Given the description of an element on the screen output the (x, y) to click on. 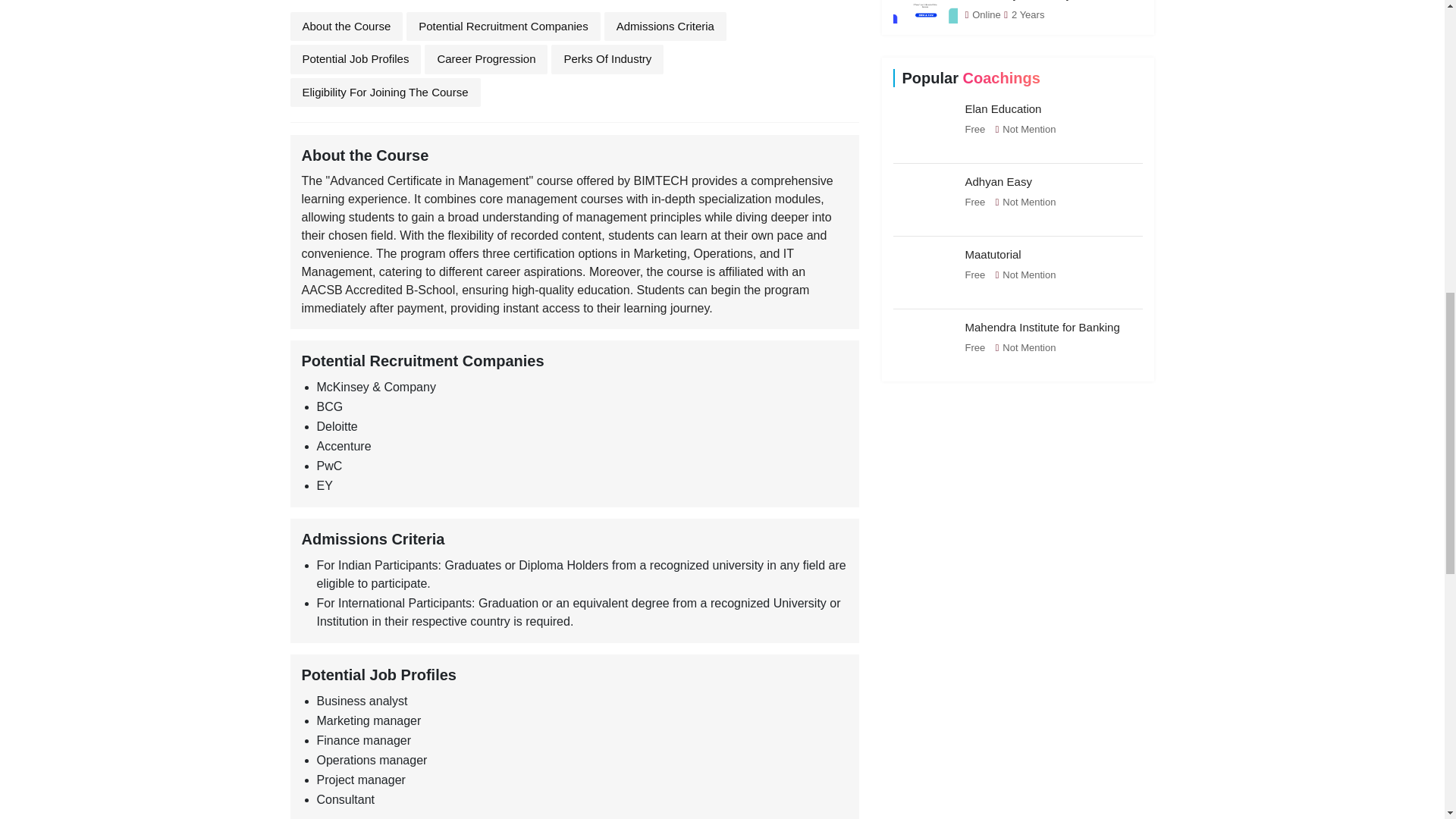
Career Progression (486, 59)
About the Course (346, 26)
Potential Job Profiles (354, 59)
Maatutorial (991, 254)
Admissions Criteria (665, 26)
Perks Of Industry (607, 59)
Mahendra Institute for Banking (1041, 327)
Elan Education (1002, 108)
Adhyan Easy (996, 181)
